Given the description of an element on the screen output the (x, y) to click on. 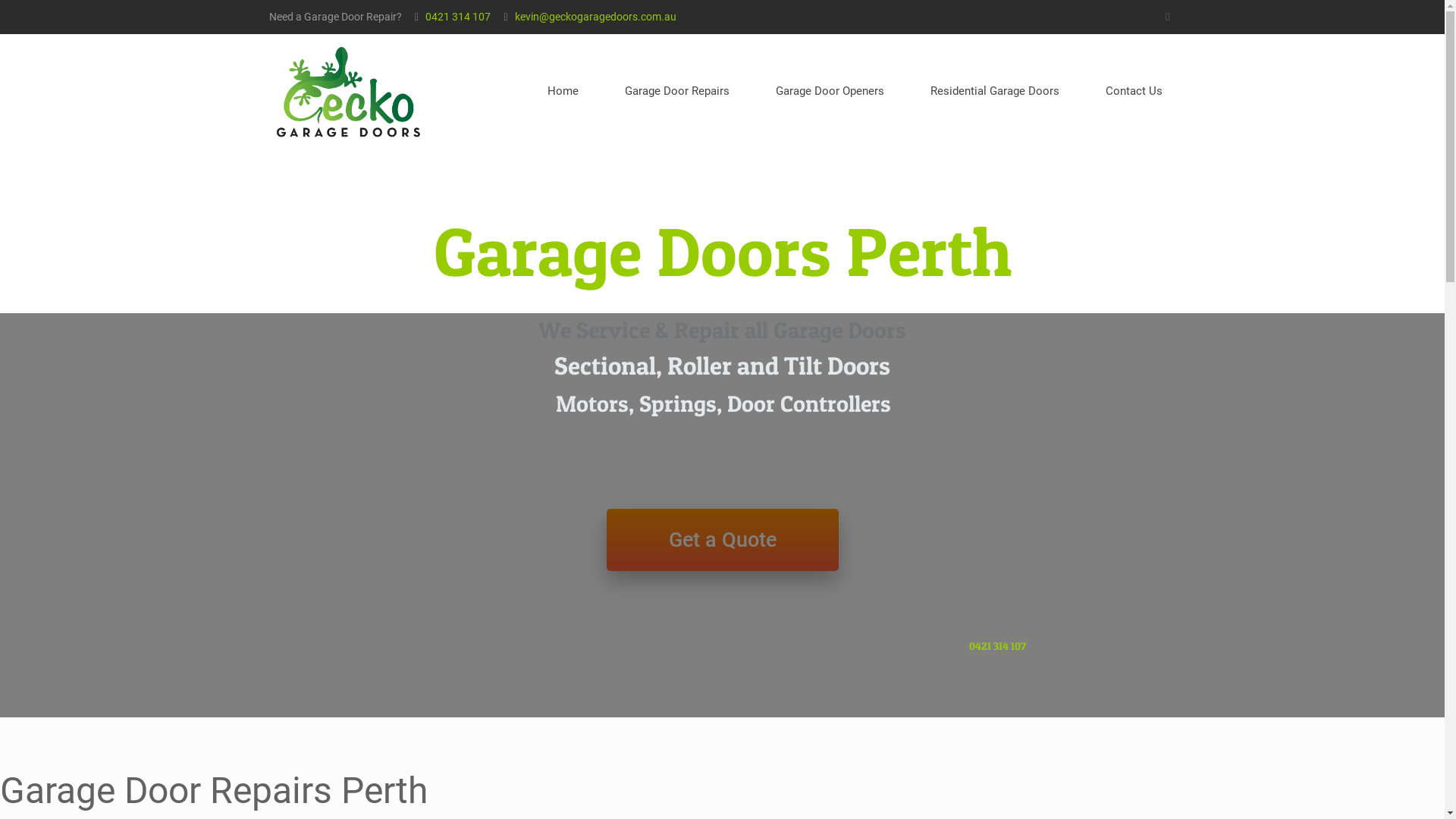
Get a Quote Element type: text (722, 539)
Contact Us Element type: text (1133, 90)
Home Element type: text (562, 90)
Gecko Garage Doors Element type: hover (347, 90)
Residential Garage Doors Element type: text (994, 90)
Garage Door Repairs Element type: text (677, 90)
0421 314 107 Element type: text (457, 16)
kevin@geckogaragedoors.com.au Element type: text (595, 16)
0421 314 107 Element type: text (997, 645)
Facebook Element type: hover (1167, 16)
Garage Door Openers Element type: text (829, 90)
